Given the description of an element on the screen output the (x, y) to click on. 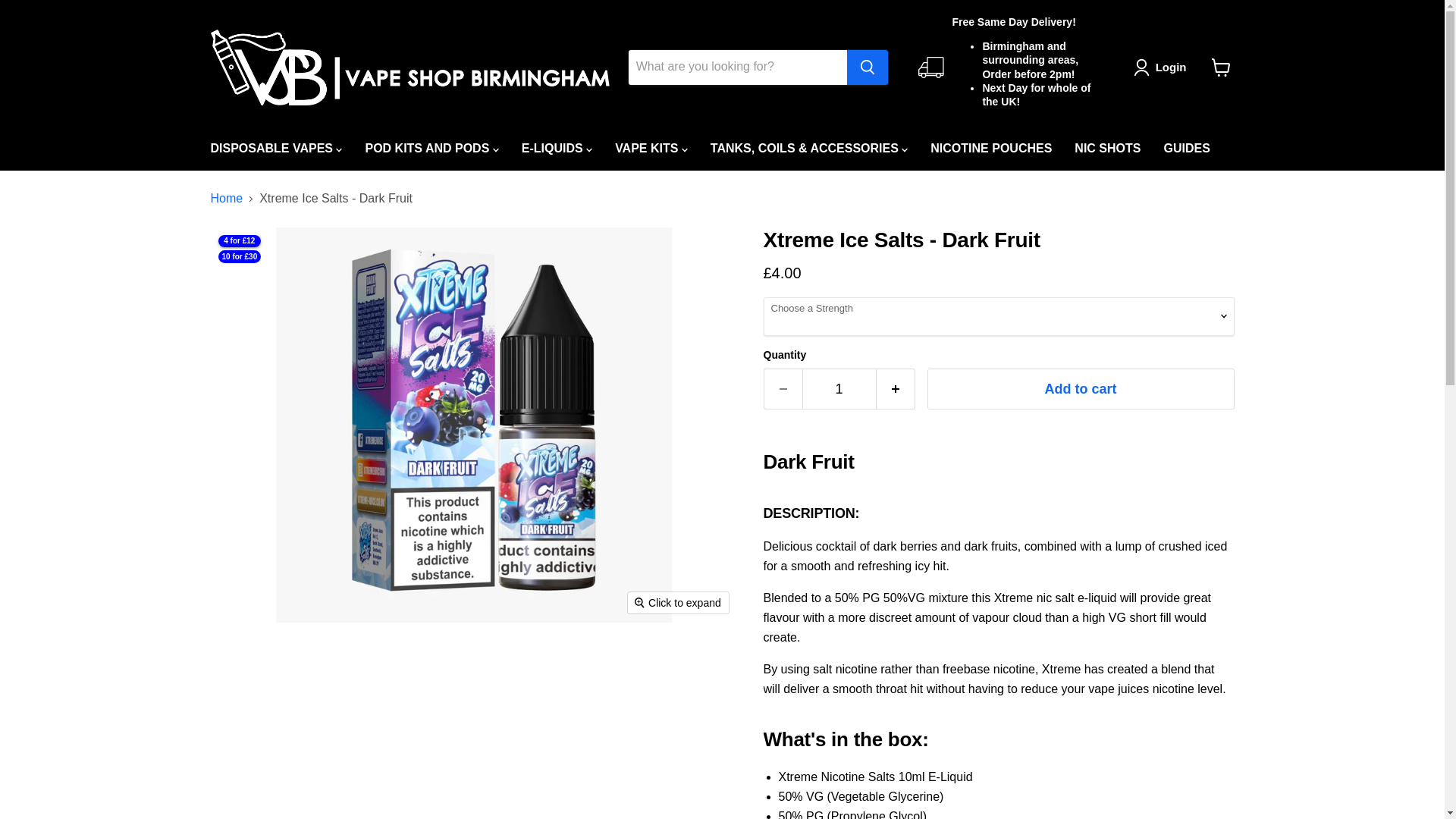
View cart (1221, 67)
Login (1163, 67)
1 (839, 389)
